Given the description of an element on the screen output the (x, y) to click on. 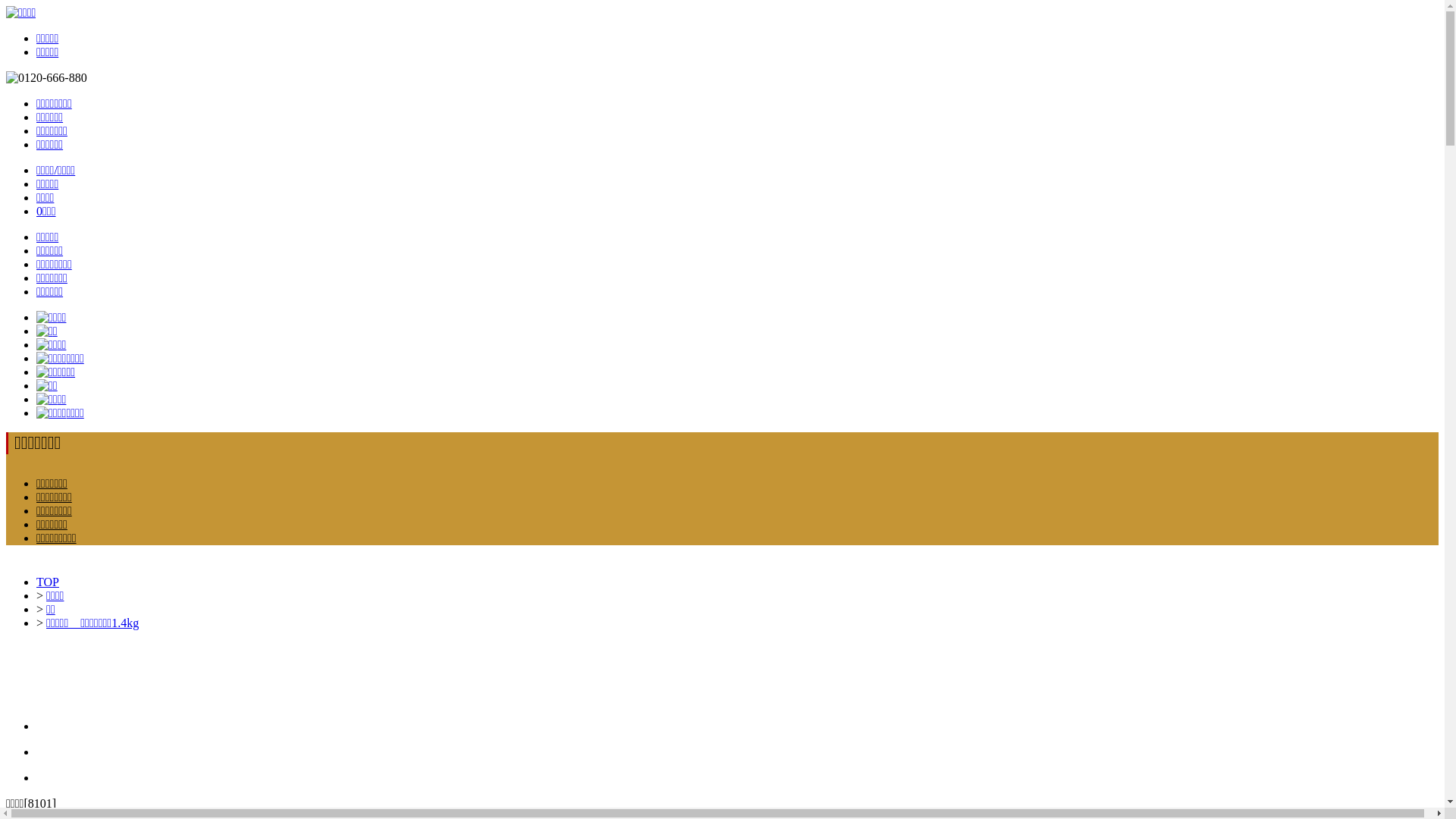
kn8101 Element type: hover (737, 726)
TOP Element type: text (47, 581)
kn8101 Element type: hover (737, 777)
kn8101 Element type: hover (737, 752)
